Given the description of an element on the screen output the (x, y) to click on. 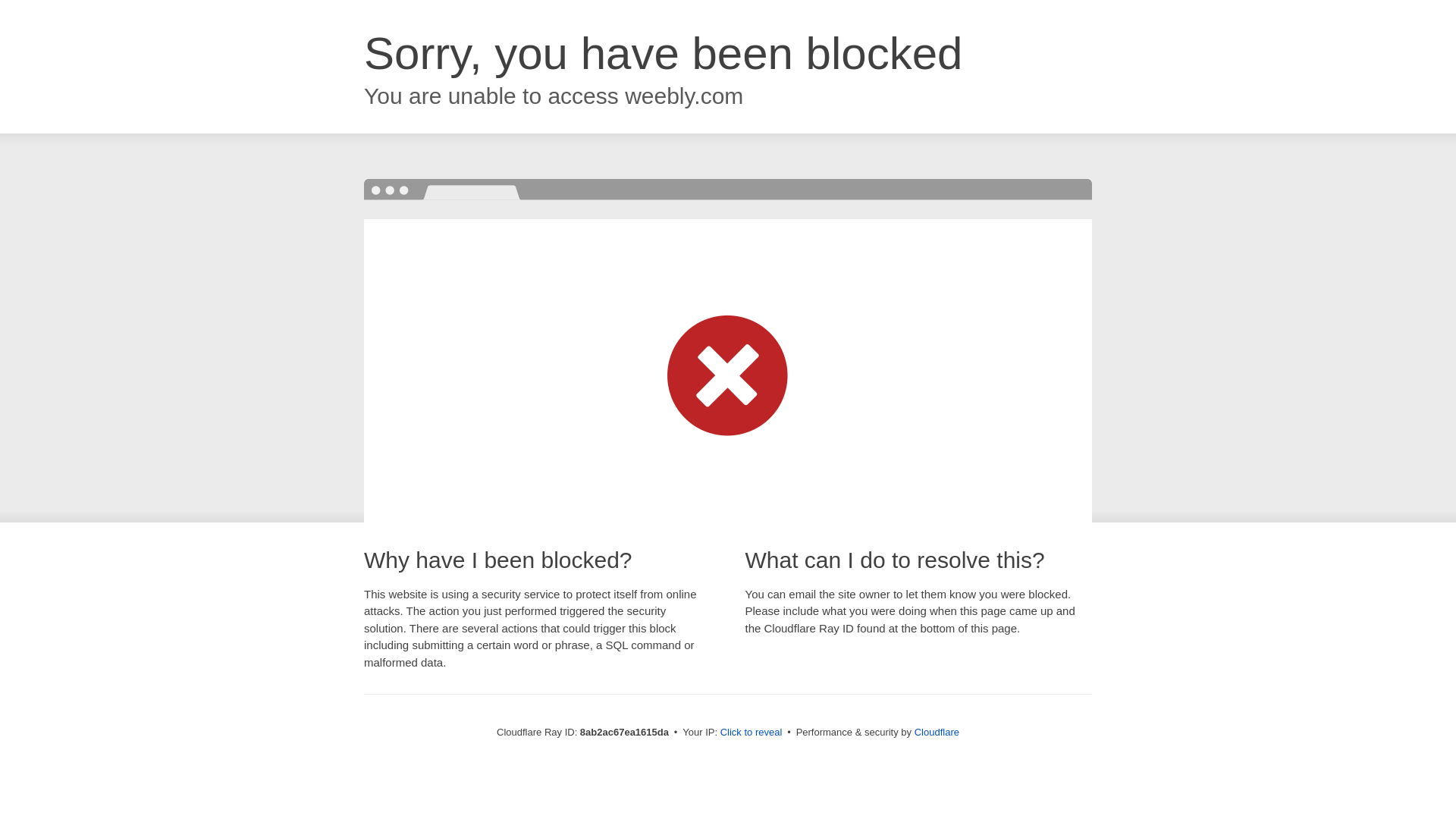
Cloudflare (936, 731)
Click to reveal (751, 732)
